Given the description of an element on the screen output the (x, y) to click on. 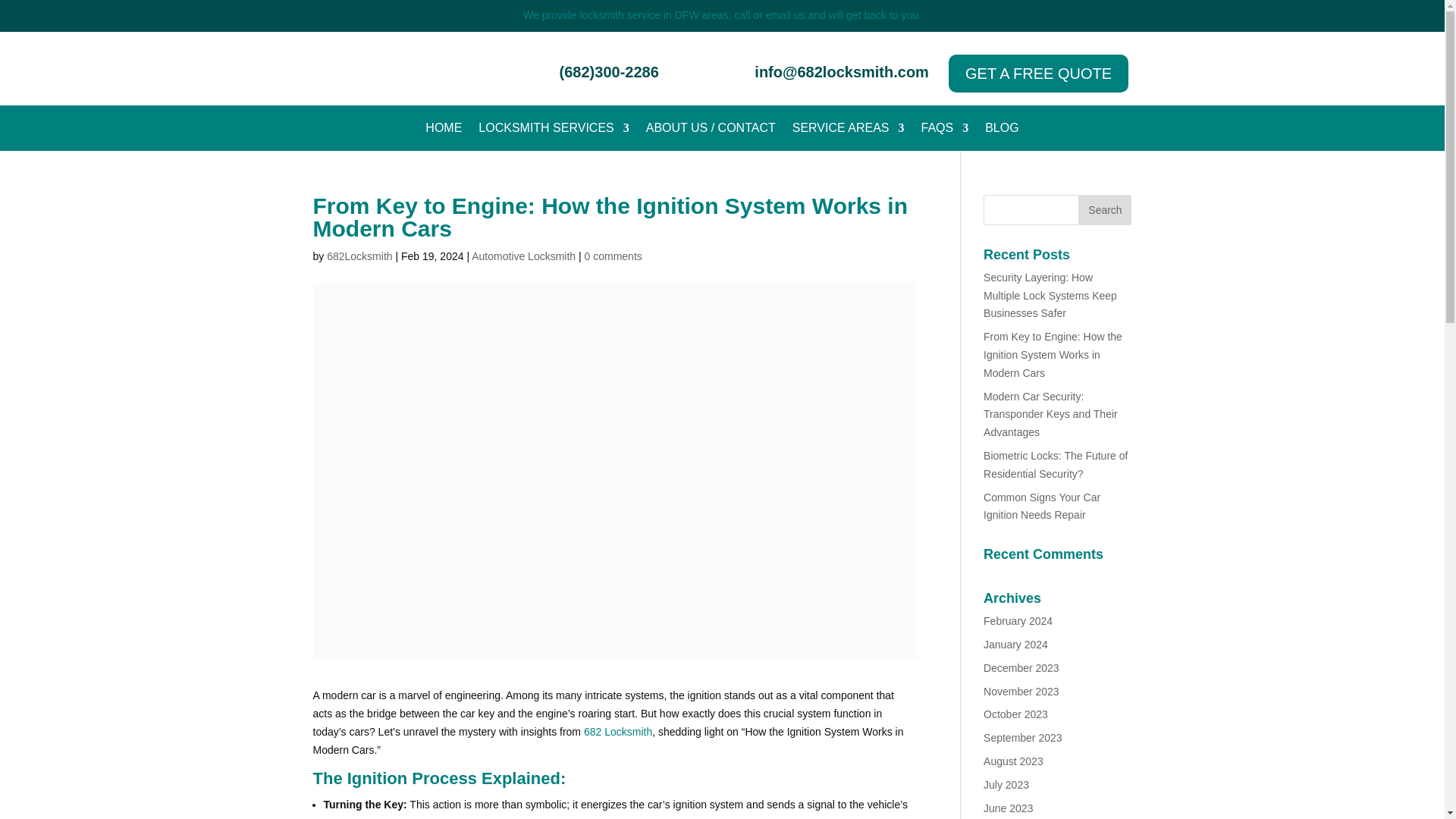
LOCKSMITH SERVICES (553, 130)
SERVICE AREAS (848, 130)
Search (1104, 209)
GET A FREE QUOTE (1038, 73)
Posts by 682Locksmith (358, 256)
HOME (443, 130)
